Given the description of an element on the screen output the (x, y) to click on. 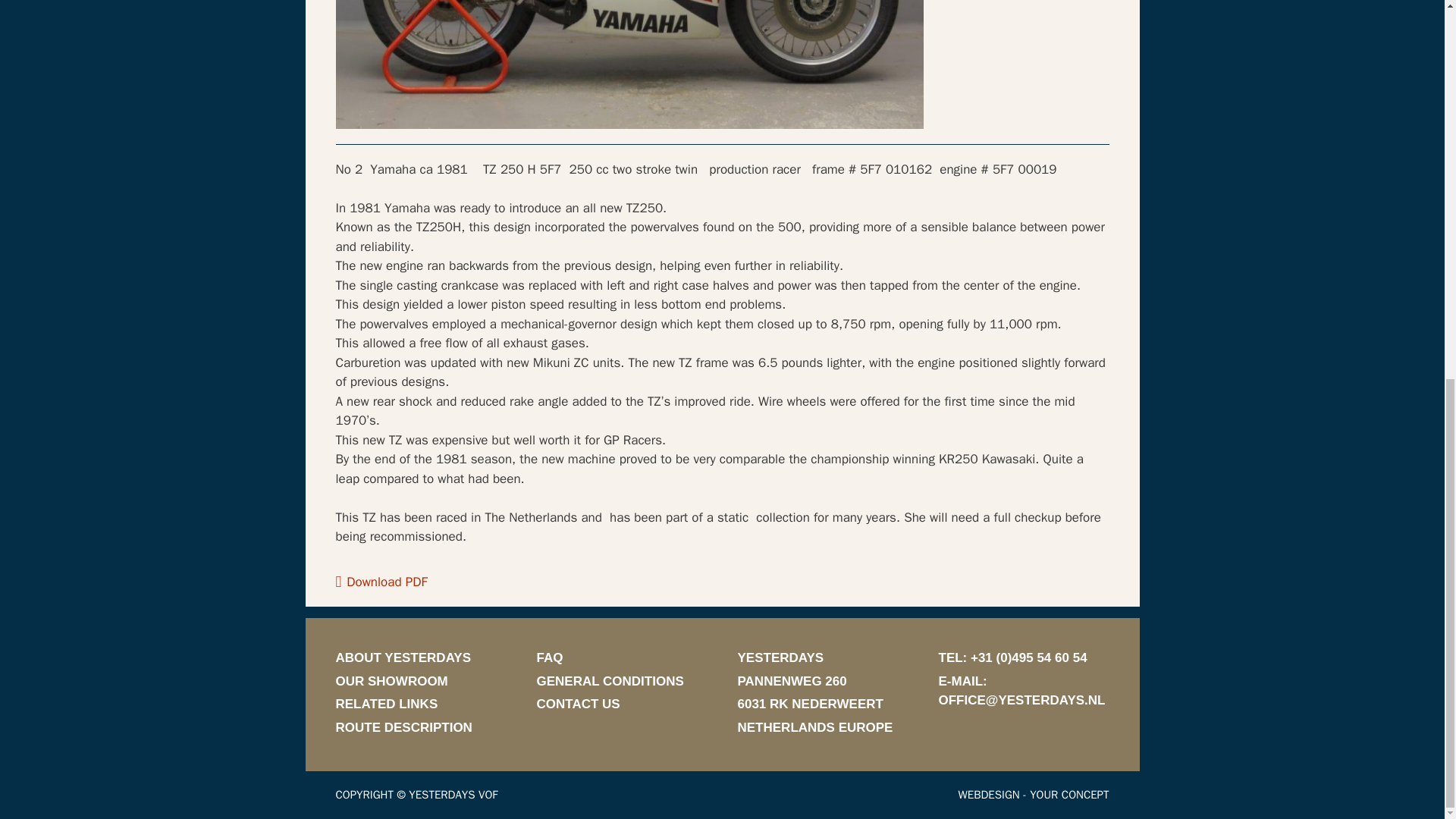
Yam-1981-TZ250-nr2-2811-1 (628, 63)
